Given the description of an element on the screen output the (x, y) to click on. 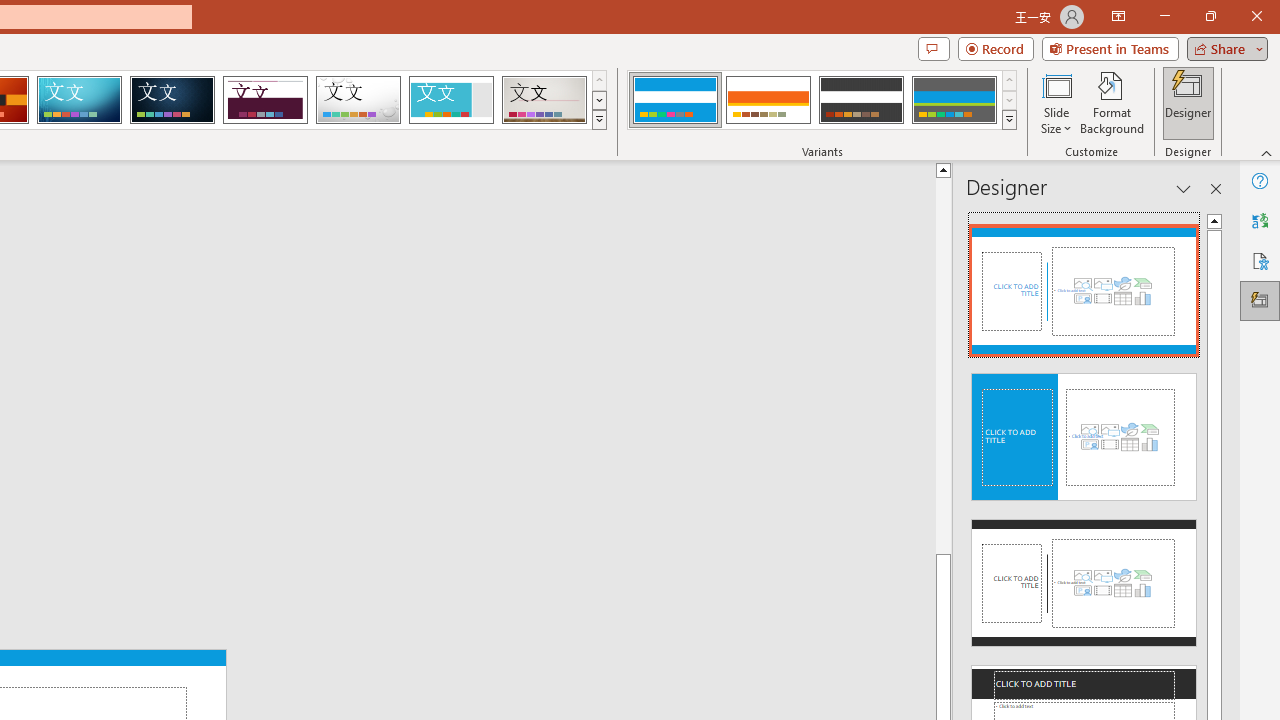
Slide Size (1056, 102)
Themes (598, 120)
Translator (1260, 220)
Banded Variant 4 (953, 100)
Page up (943, 364)
Format Background (1111, 102)
Banded Variant 1 (674, 100)
